Given the description of an element on the screen output the (x, y) to click on. 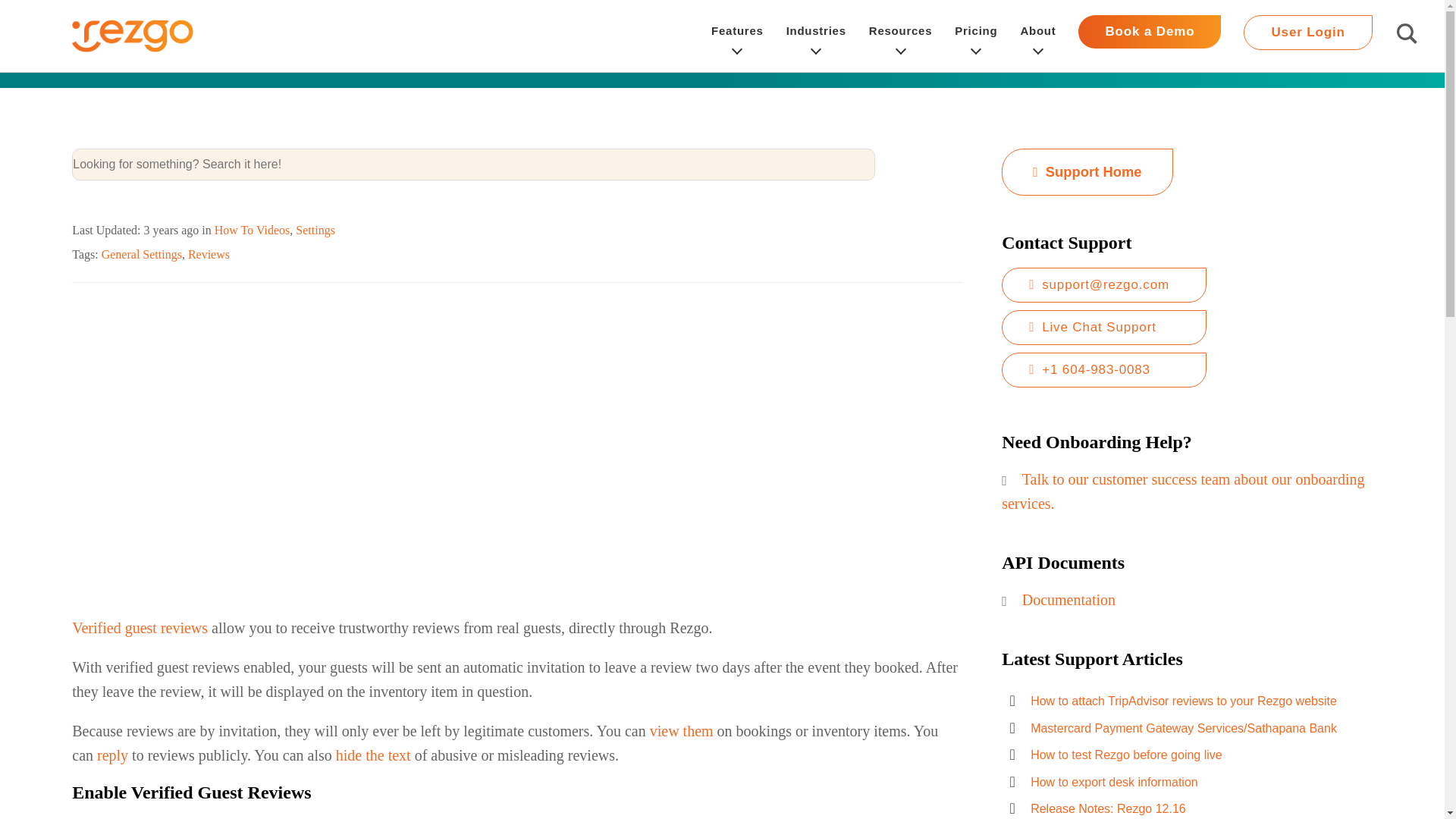
Industries (815, 36)
Book a Demo (1149, 35)
Book a Demo (1149, 31)
Pricing (976, 36)
User Login (1307, 35)
Features (736, 36)
Resources (900, 36)
User Login (1307, 32)
